Given the description of an element on the screen output the (x, y) to click on. 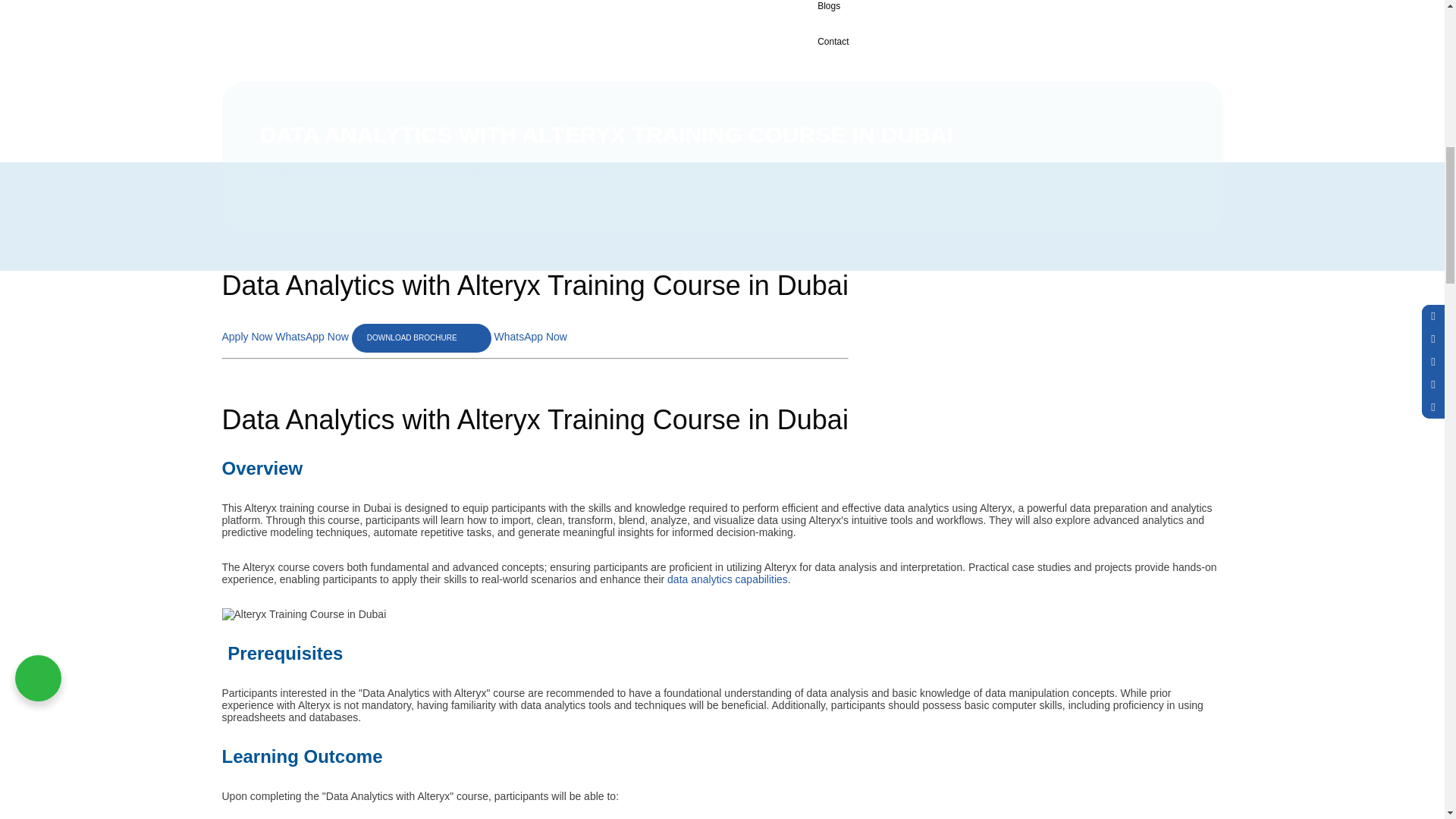
Contact (897, 41)
HOME (275, 172)
Apply Now (248, 336)
WhatsApp Now (312, 336)
DOWNLOAD BROCHURE (422, 337)
Blogs (897, 11)
WhatsApp Now (529, 336)
data analytics capabilities (726, 579)
